Given the description of an element on the screen output the (x, y) to click on. 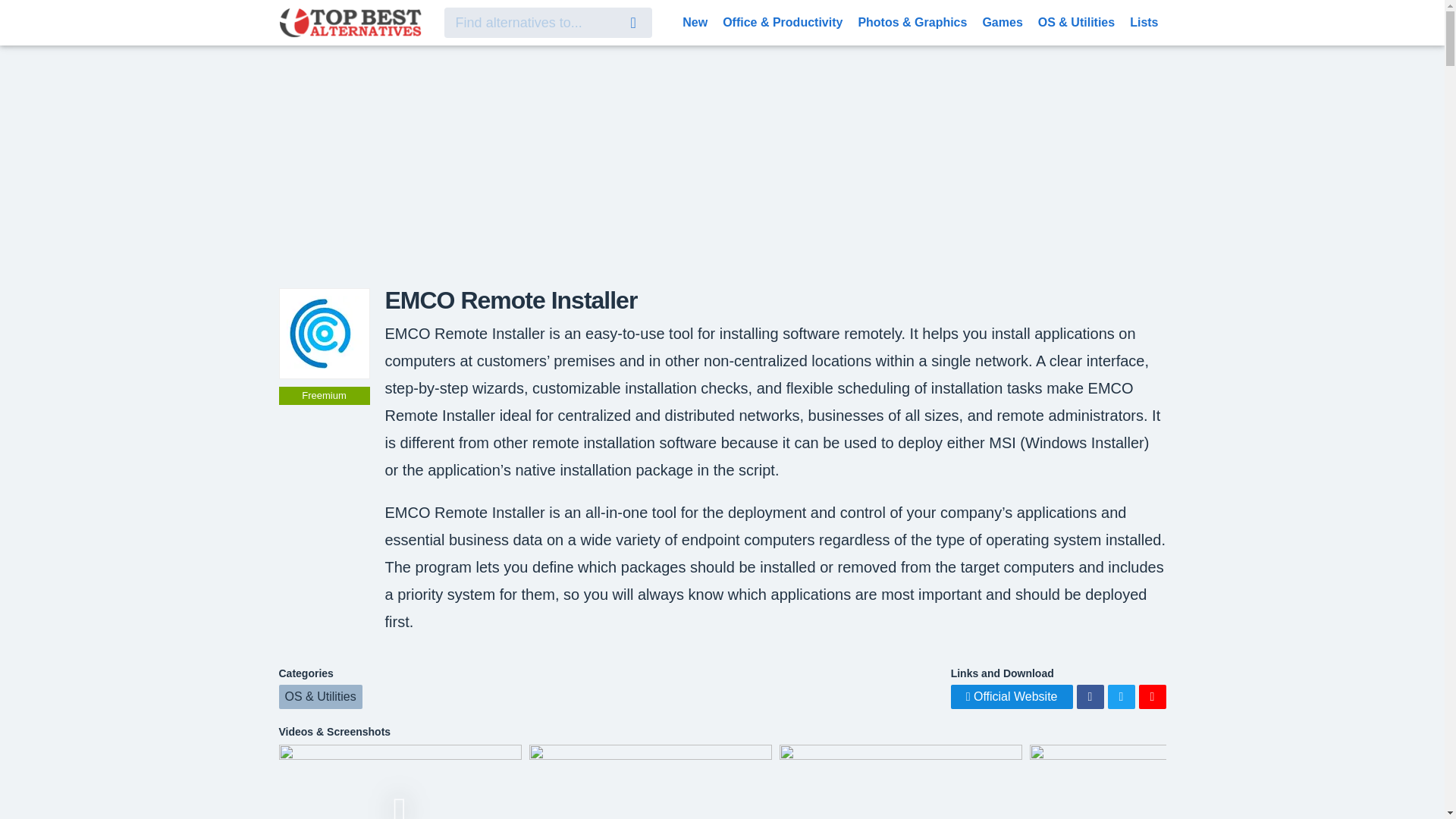
Youtube (1152, 696)
Twitter (1120, 696)
Facebook (1090, 696)
Lists (1144, 21)
Official Website (1011, 696)
New (694, 21)
Games (1001, 21)
